Given the description of an element on the screen output the (x, y) to click on. 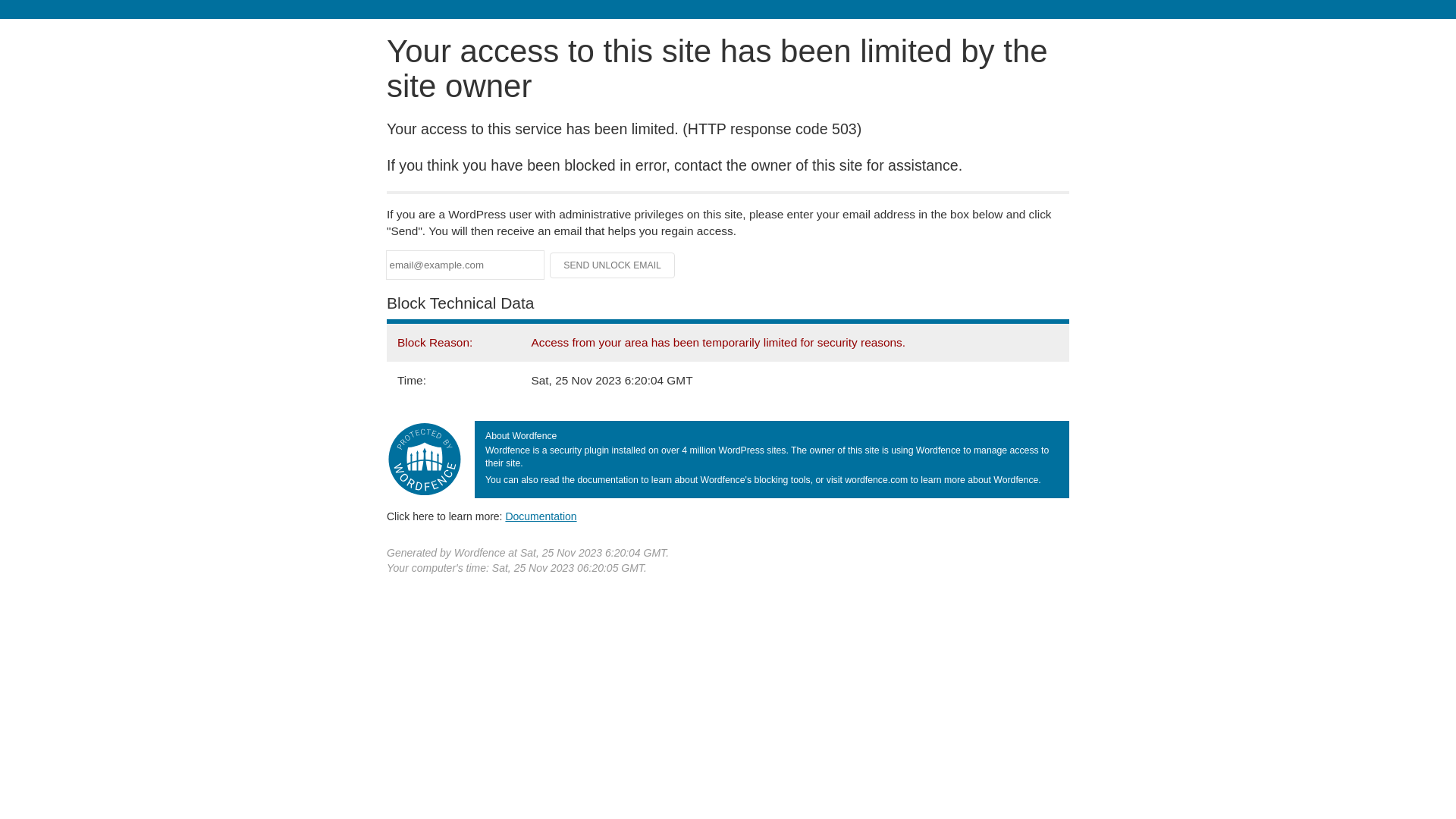
Documentation Element type: text (540, 516)
Send Unlock Email Element type: text (612, 265)
